Given the description of an element on the screen output the (x, y) to click on. 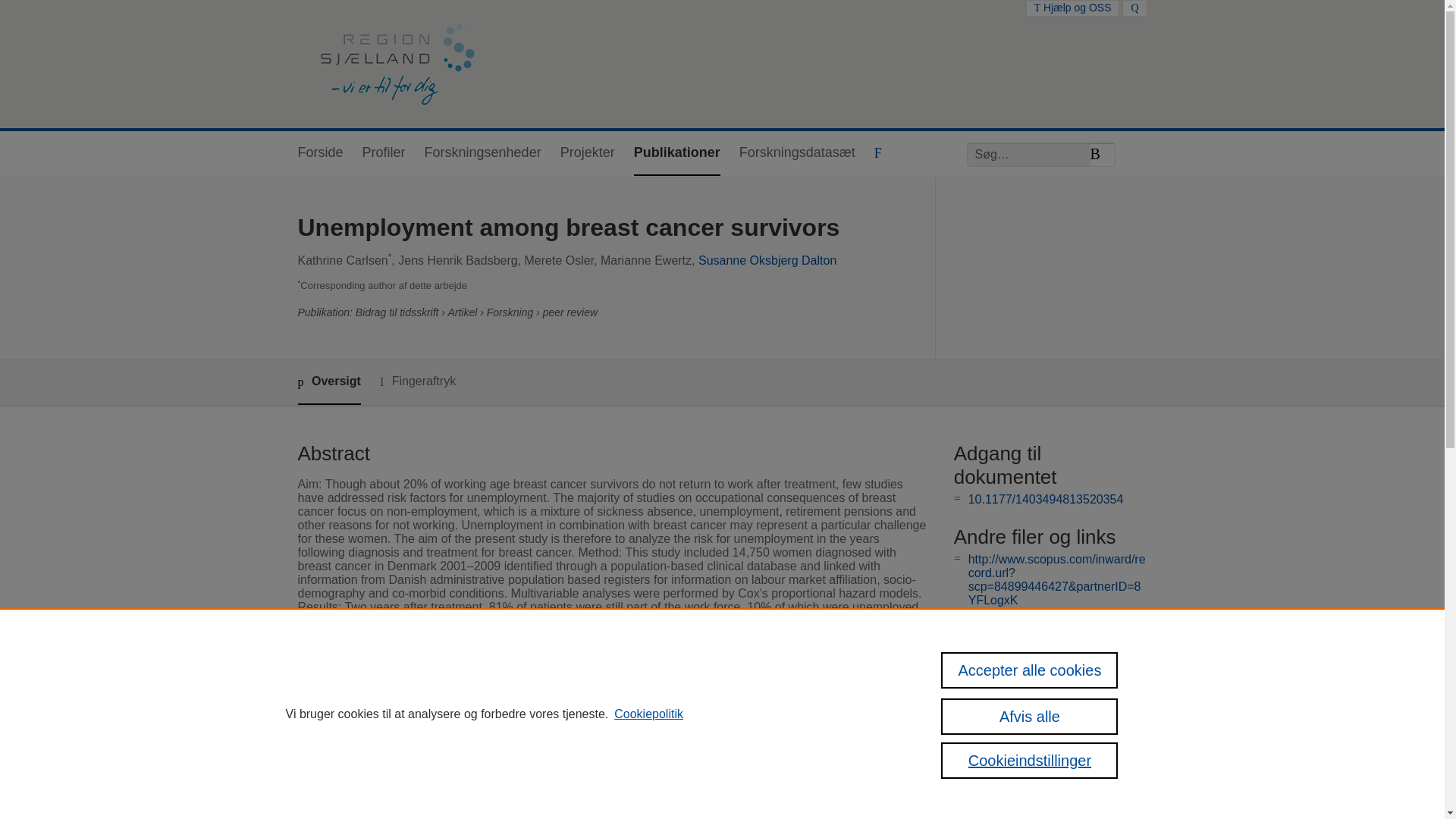
Forskningsenheder (483, 153)
Forside (319, 153)
Profiler (384, 153)
Projekter (587, 153)
Scandinavian Journal of Public Health (609, 766)
Fingeraftryk (417, 381)
Publikationer (676, 153)
Oversigt (328, 382)
Susanne Oksbjerg Dalton (766, 259)
